Given the description of an element on the screen output the (x, y) to click on. 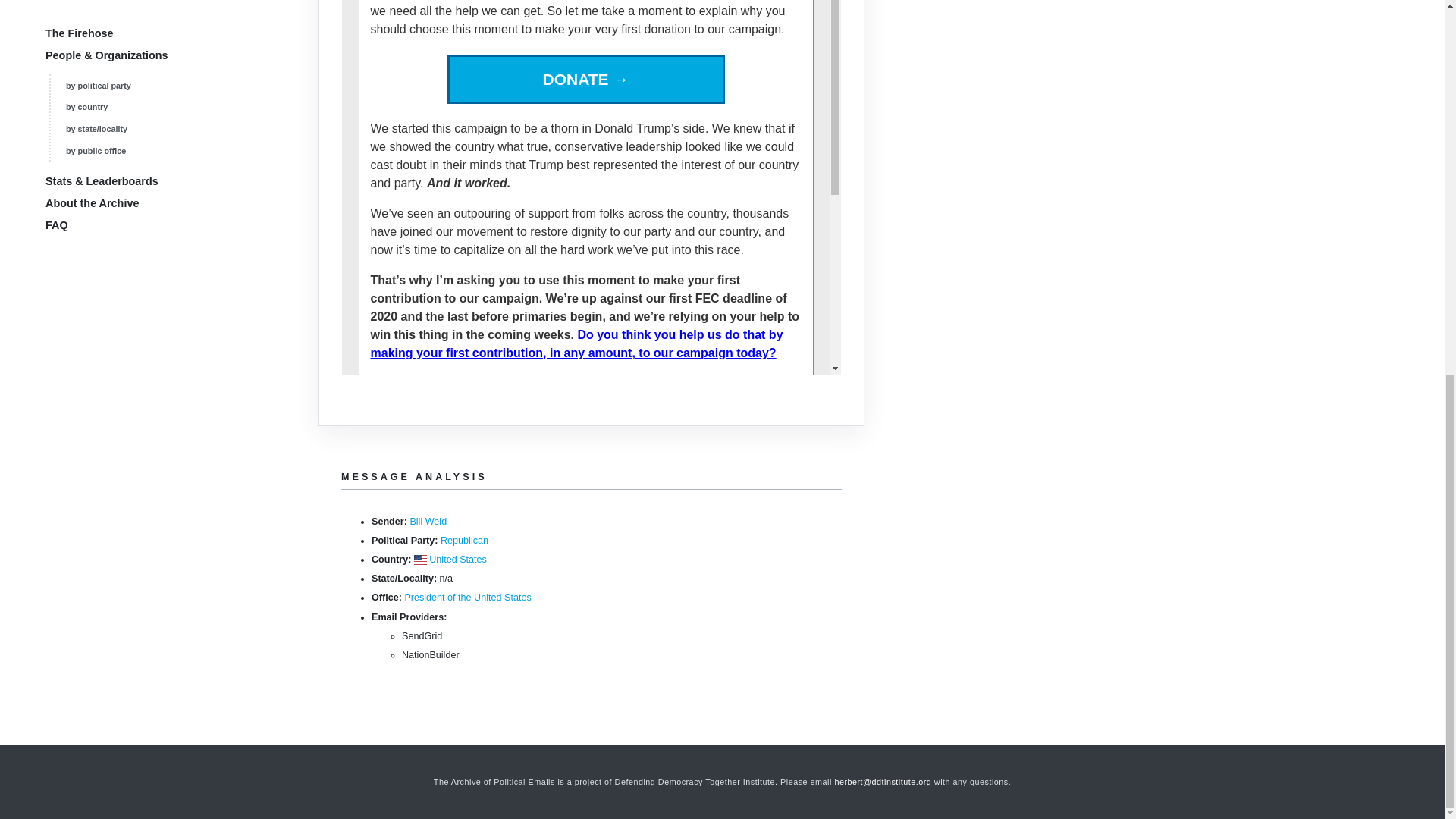
Republican (464, 540)
United States (457, 559)
Bill Weld (427, 521)
President of the United States (467, 597)
